Given the description of an element on the screen output the (x, y) to click on. 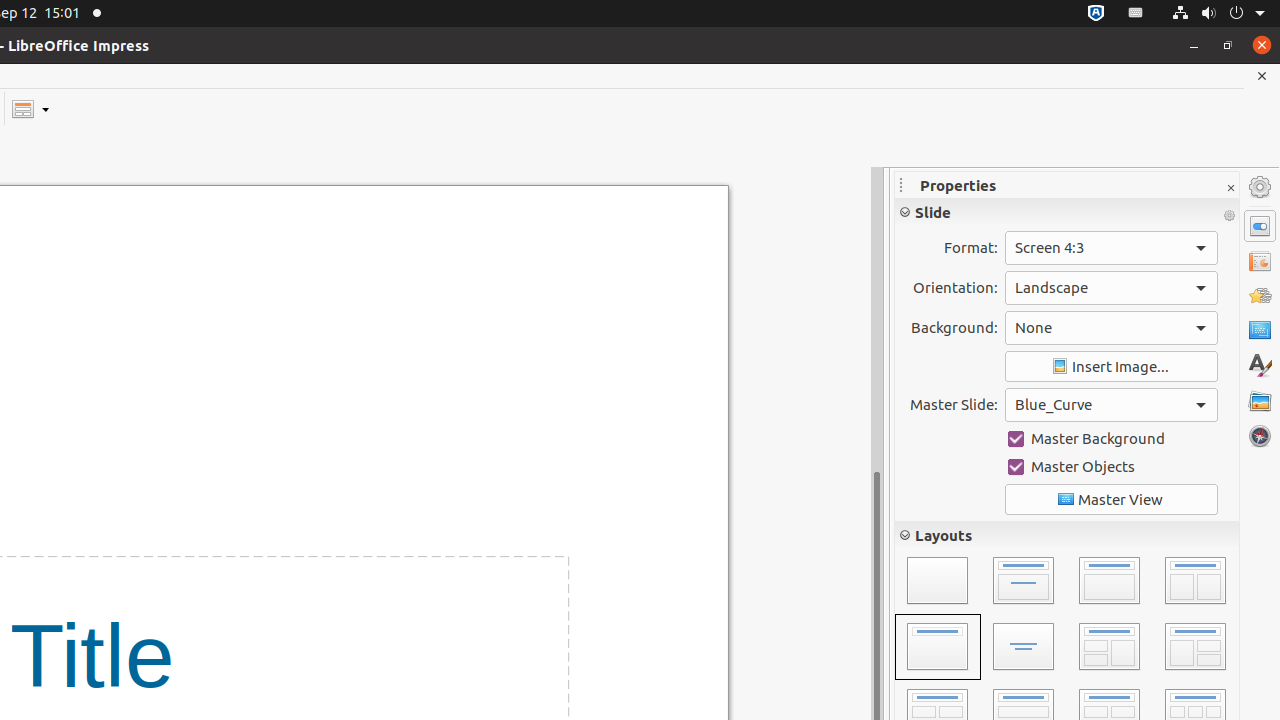
Highlight Color Element type: push-button (967, 339)
Animation Element type: radio-button (1260, 296)
Bottom Element type: toggle-button (1220, 412)
Top Element type: toggle-button (1170, 412)
Increase Element type: push-button (1082, 487)
